Given the description of an element on the screen output the (x, y) to click on. 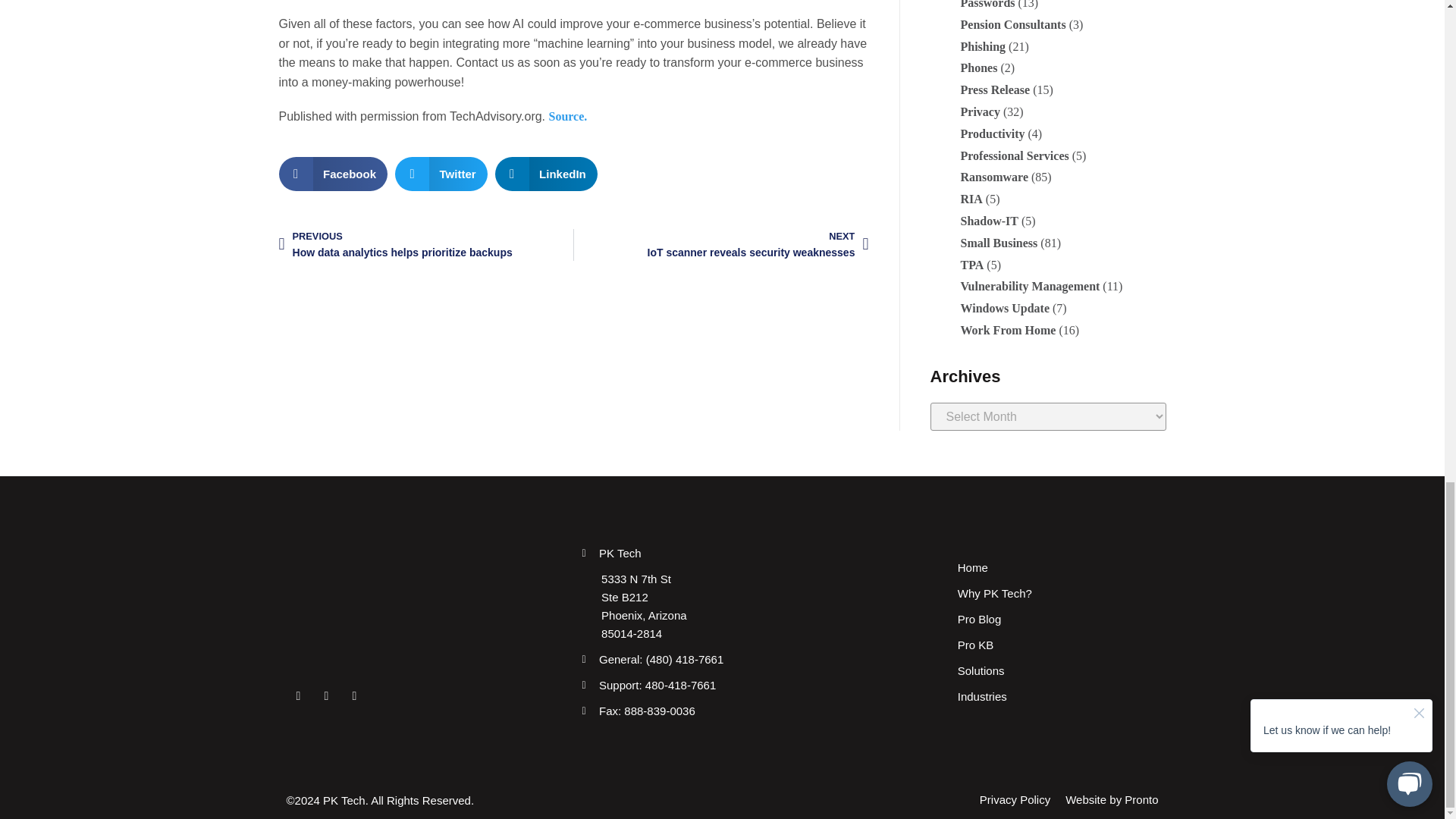
Source. (729, 245)
